Given the description of an element on the screen output the (x, y) to click on. 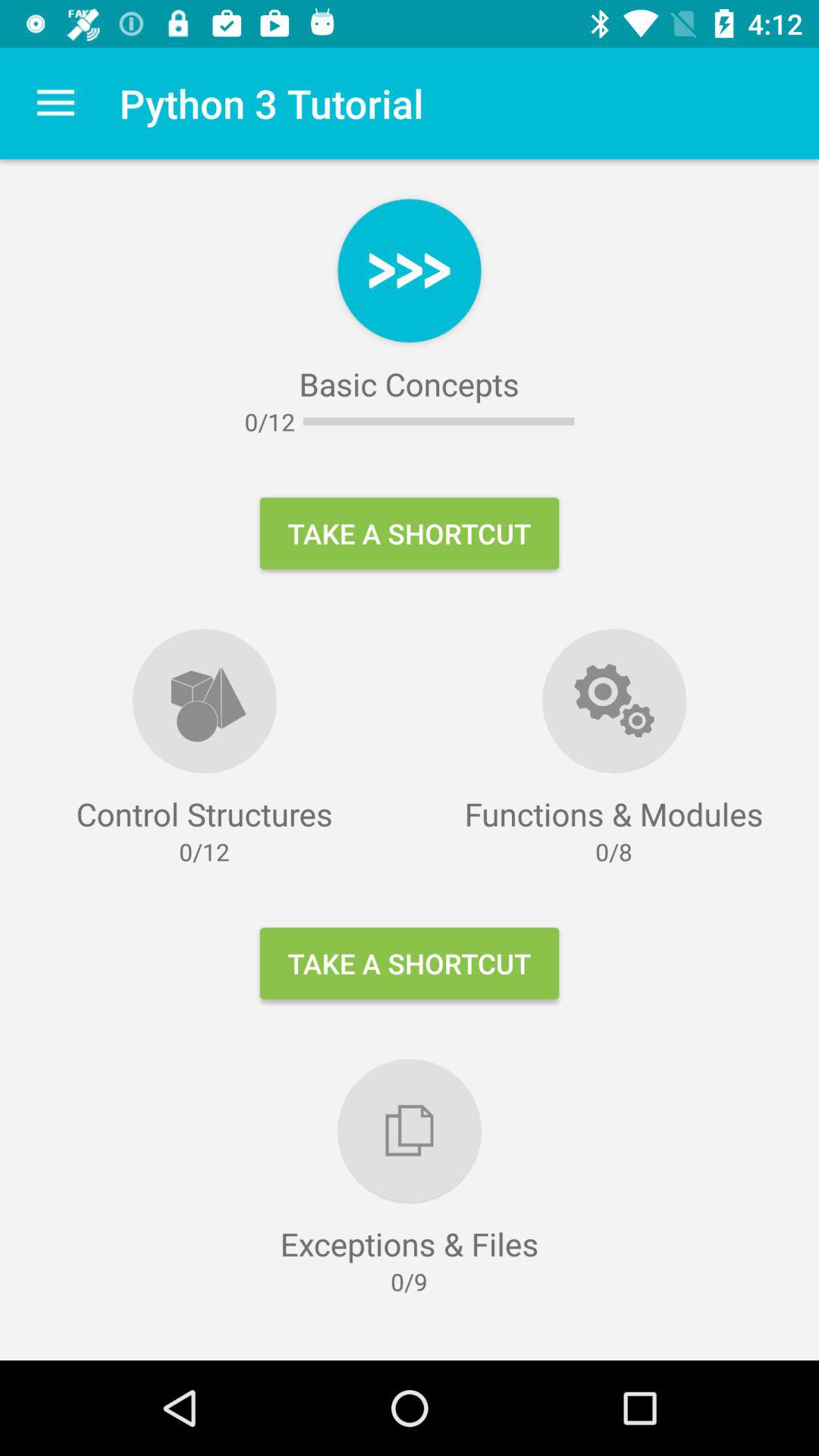
open the item to the left of the python 3 tutorial icon (55, 103)
